Given the description of an element on the screen output the (x, y) to click on. 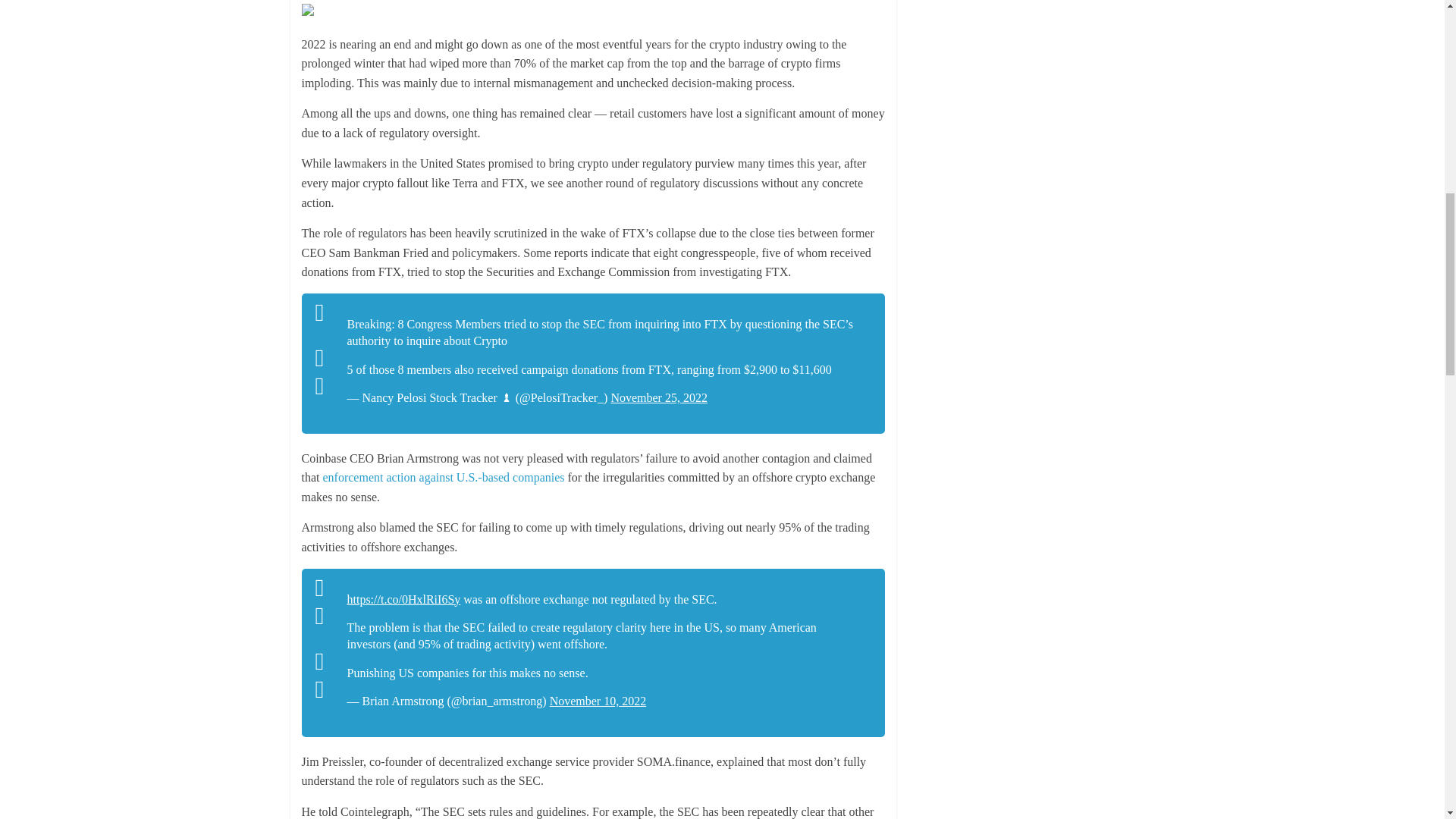
November 10, 2022 (598, 700)
November 25, 2022 (658, 397)
enforcement action against U.S.-based companies (443, 477)
